Given the description of an element on the screen output the (x, y) to click on. 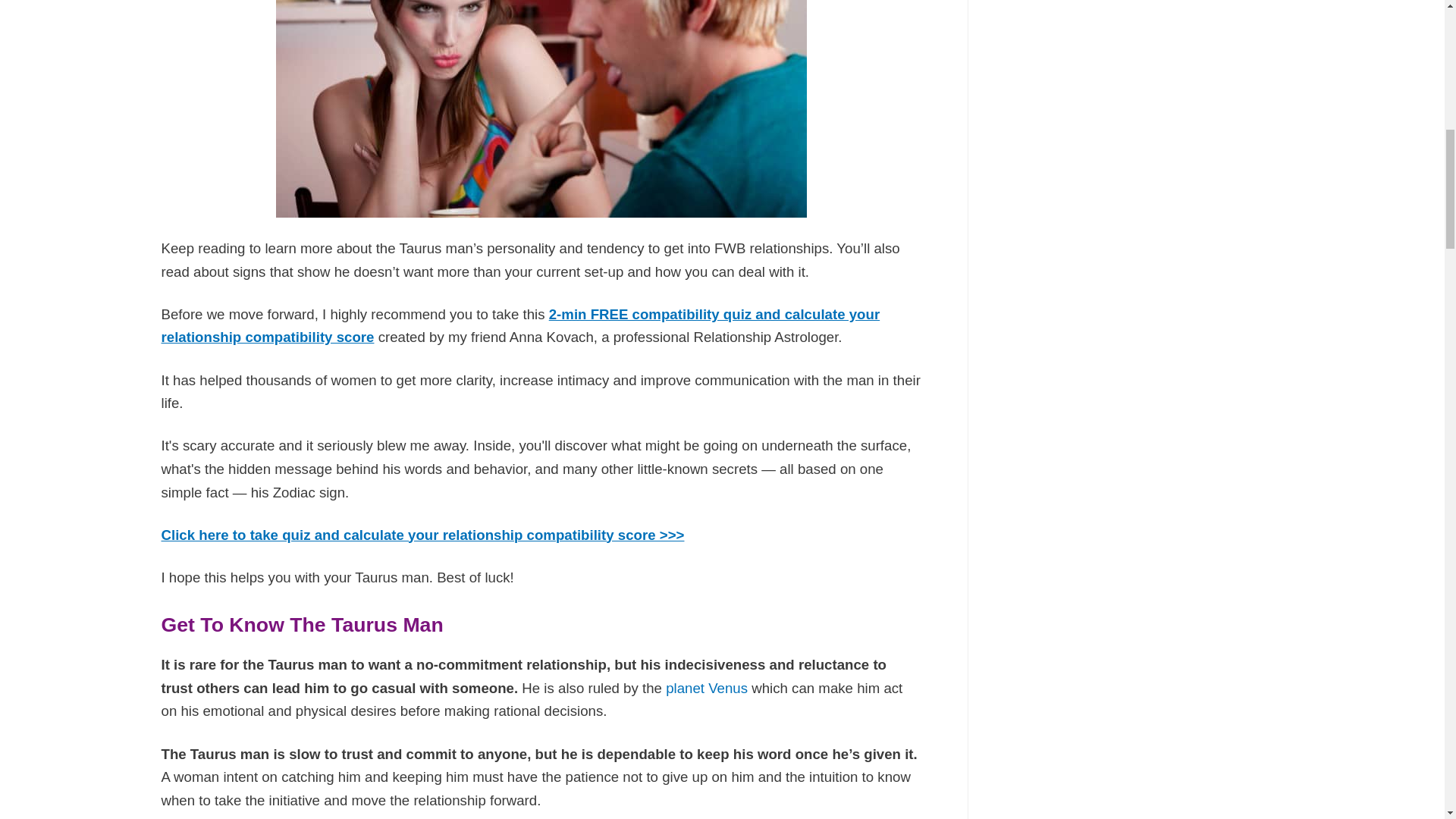
Venus (726, 688)
planet (683, 688)
